Given the description of an element on the screen output the (x, y) to click on. 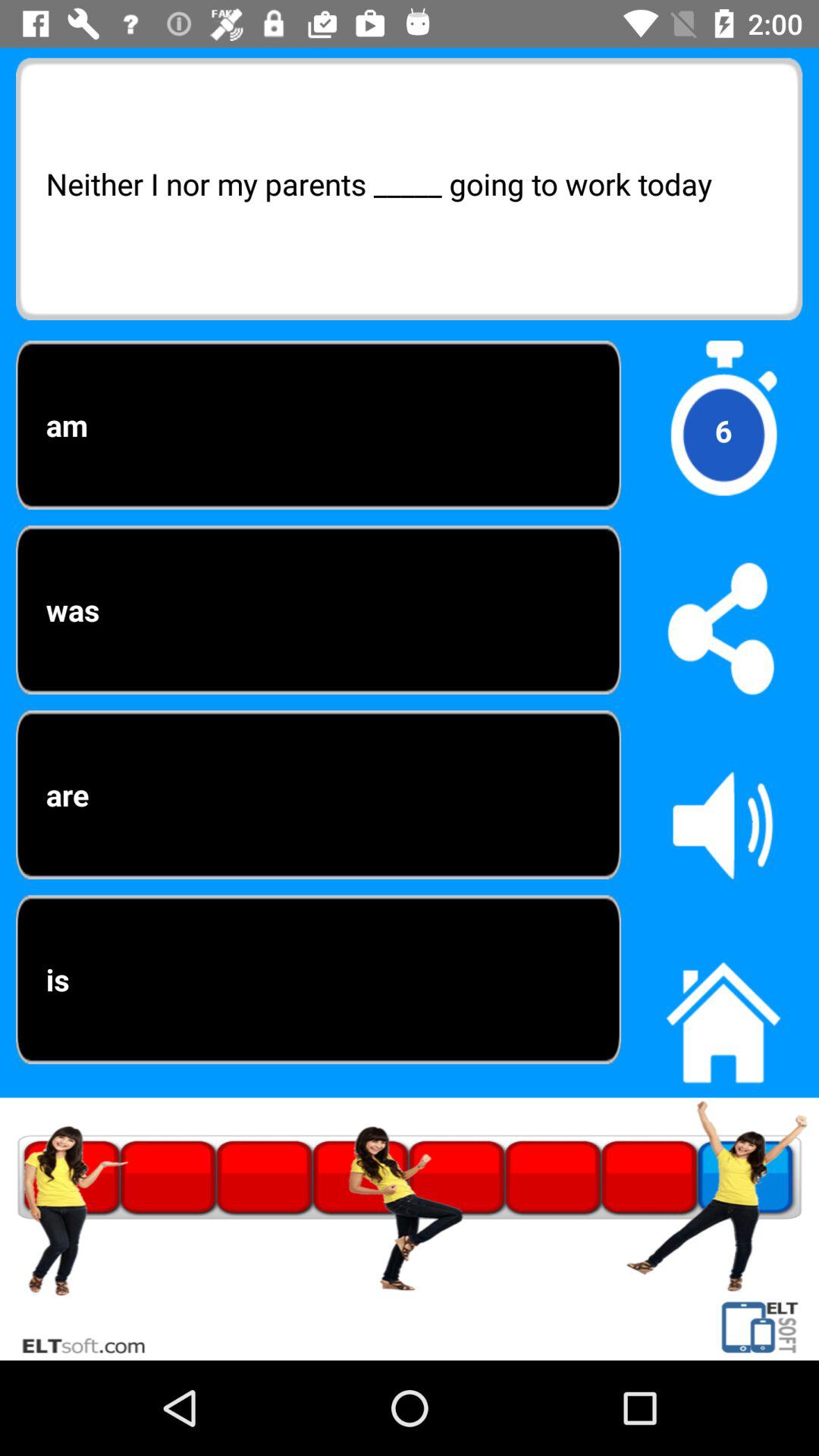
choose the are icon (318, 794)
